Given the description of an element on the screen output the (x, y) to click on. 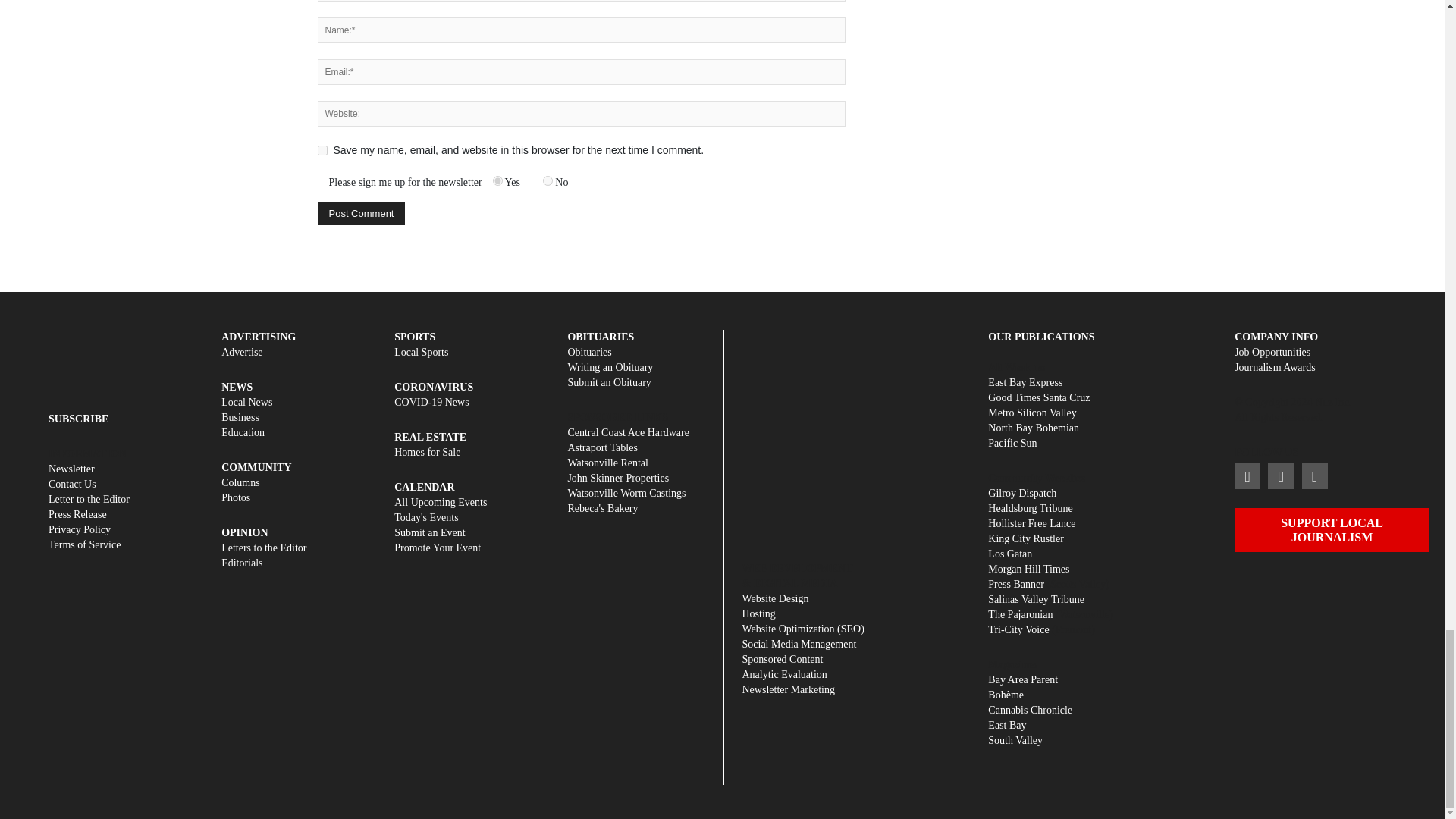
Yes (497, 180)
No (548, 180)
yes (321, 150)
Post Comment (360, 213)
